Given the description of an element on the screen output the (x, y) to click on. 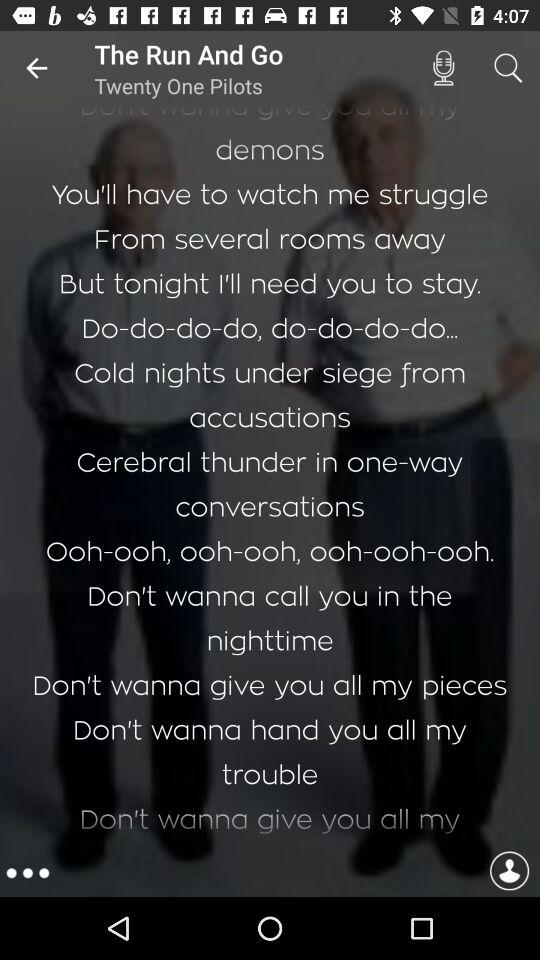
open item above i can t item (443, 67)
